Given the description of an element on the screen output the (x, y) to click on. 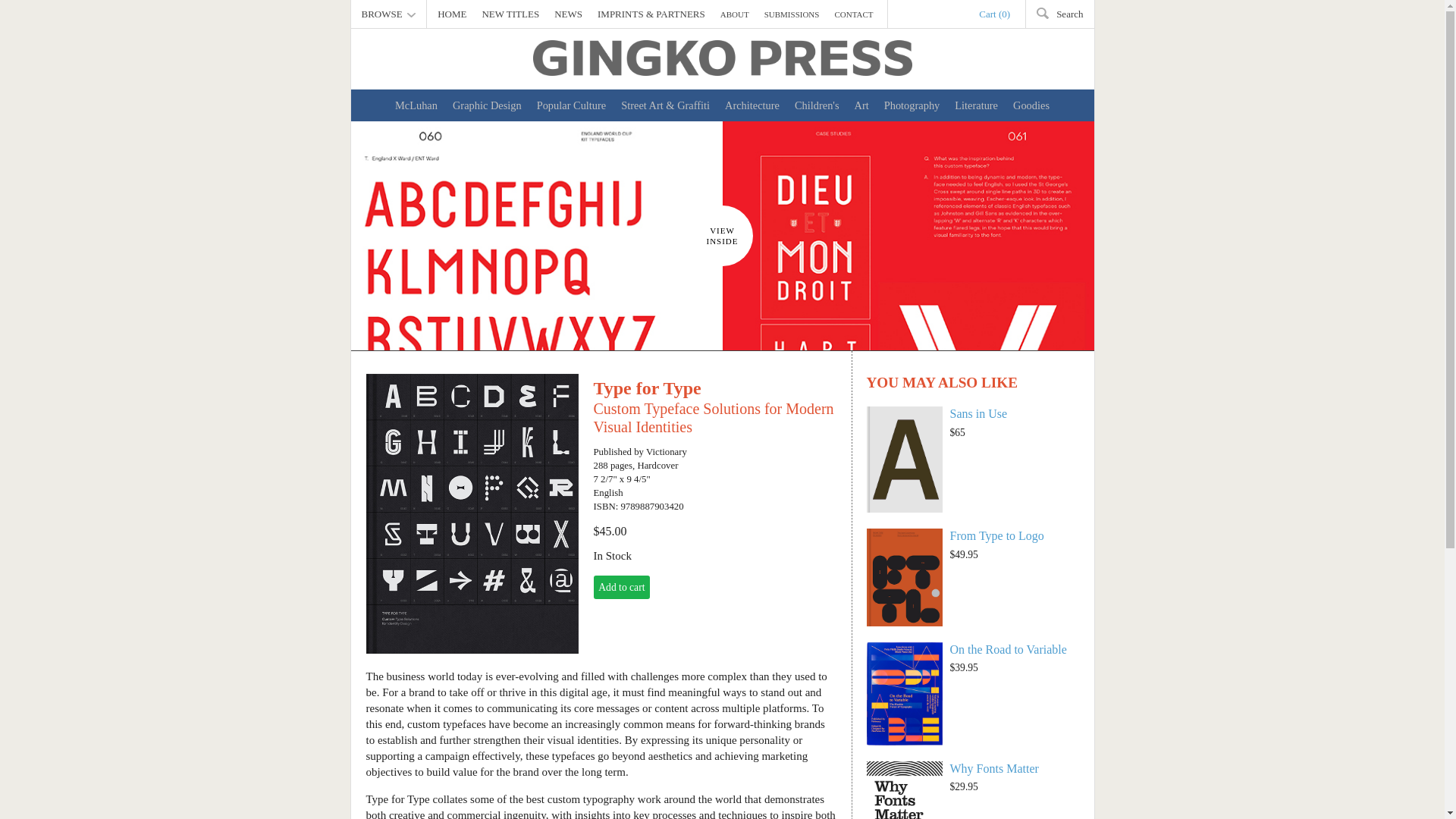
HOME (450, 13)
BROWSE   (388, 13)
Go to home page (721, 58)
View your shopping cart (994, 13)
